Given the description of an element on the screen output the (x, y) to click on. 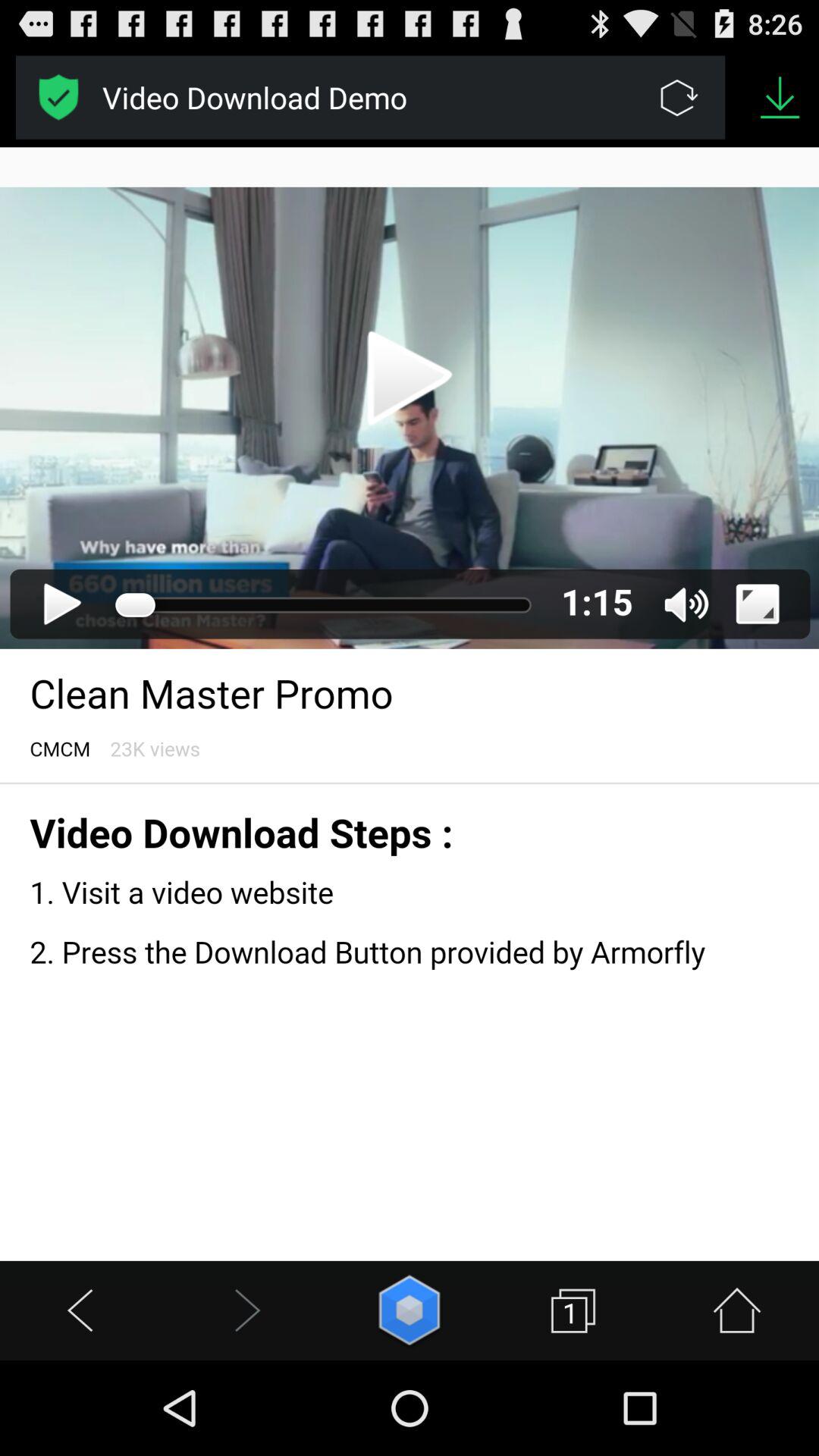
ok (59, 97)
